Given the description of an element on the screen output the (x, y) to click on. 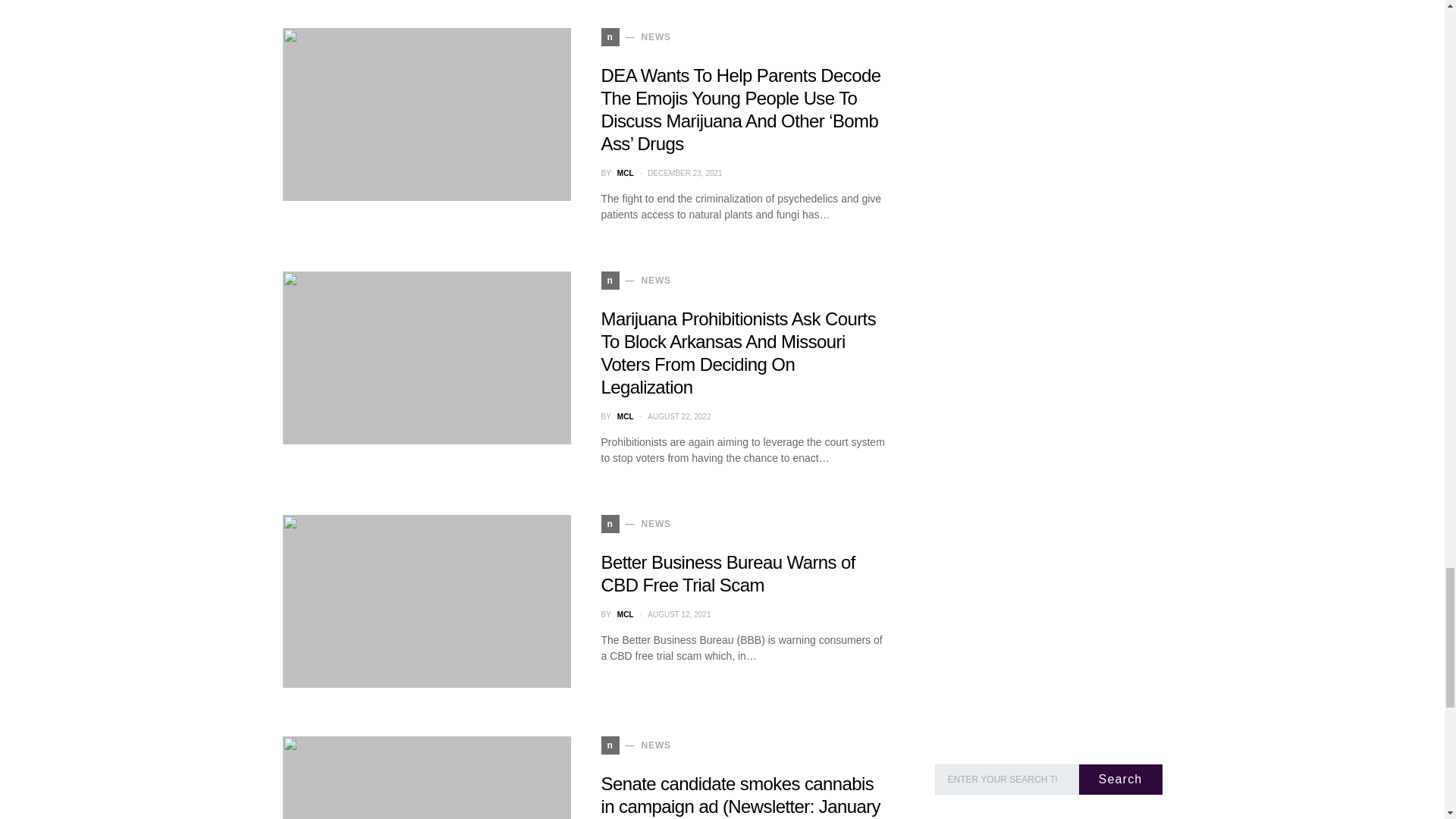
View all posts by MCL (625, 416)
View all posts by MCL (625, 613)
View all posts by MCL (625, 172)
